Given the description of an element on the screen output the (x, y) to click on. 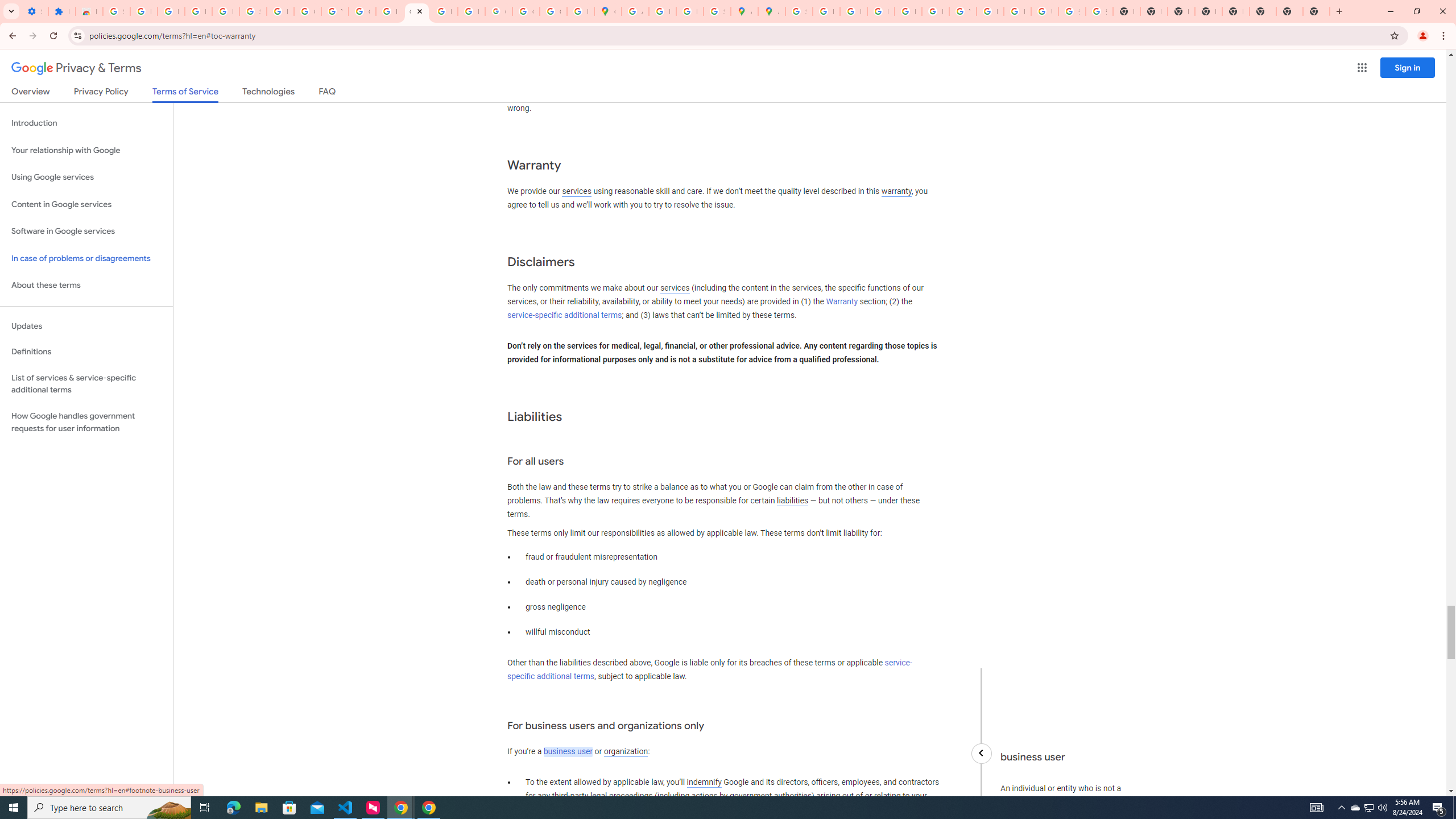
https://scholar.google.com/ (389, 11)
liabilities (792, 500)
Privacy Help Center - Policies Help (853, 11)
Content in Google services (86, 204)
Privacy Help Center - Policies Help (880, 11)
Delete photos & videos - Computer - Google Photos Help (170, 11)
